Given the description of an element on the screen output the (x, y) to click on. 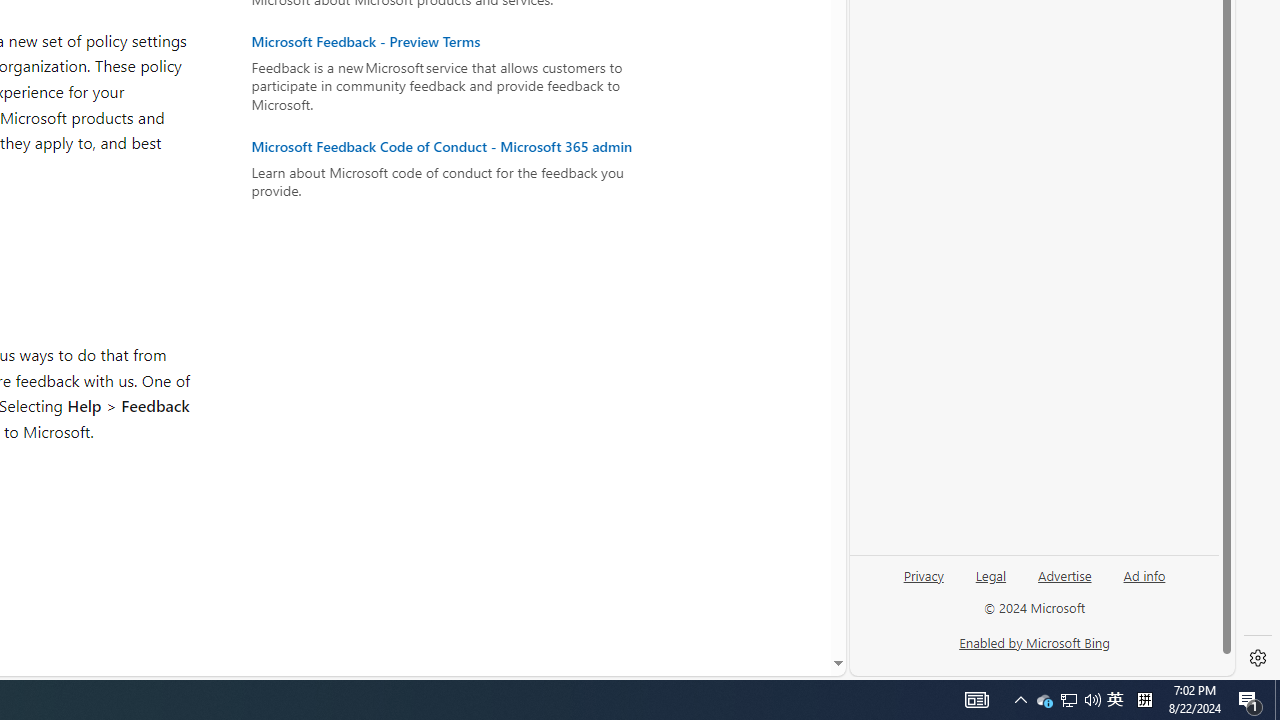
Microsoft Feedback Code of Conduct - Microsoft 365 admin (452, 146)
Privacy (923, 583)
Privacy (923, 574)
Advertise (1064, 583)
Ad info (1144, 583)
Legal (991, 574)
Advertise (1064, 574)
Legal (990, 583)
Settings (1258, 658)
Ad info (1144, 574)
Microsoft Feedback - Preview Terms (452, 42)
